Given the description of an element on the screen output the (x, y) to click on. 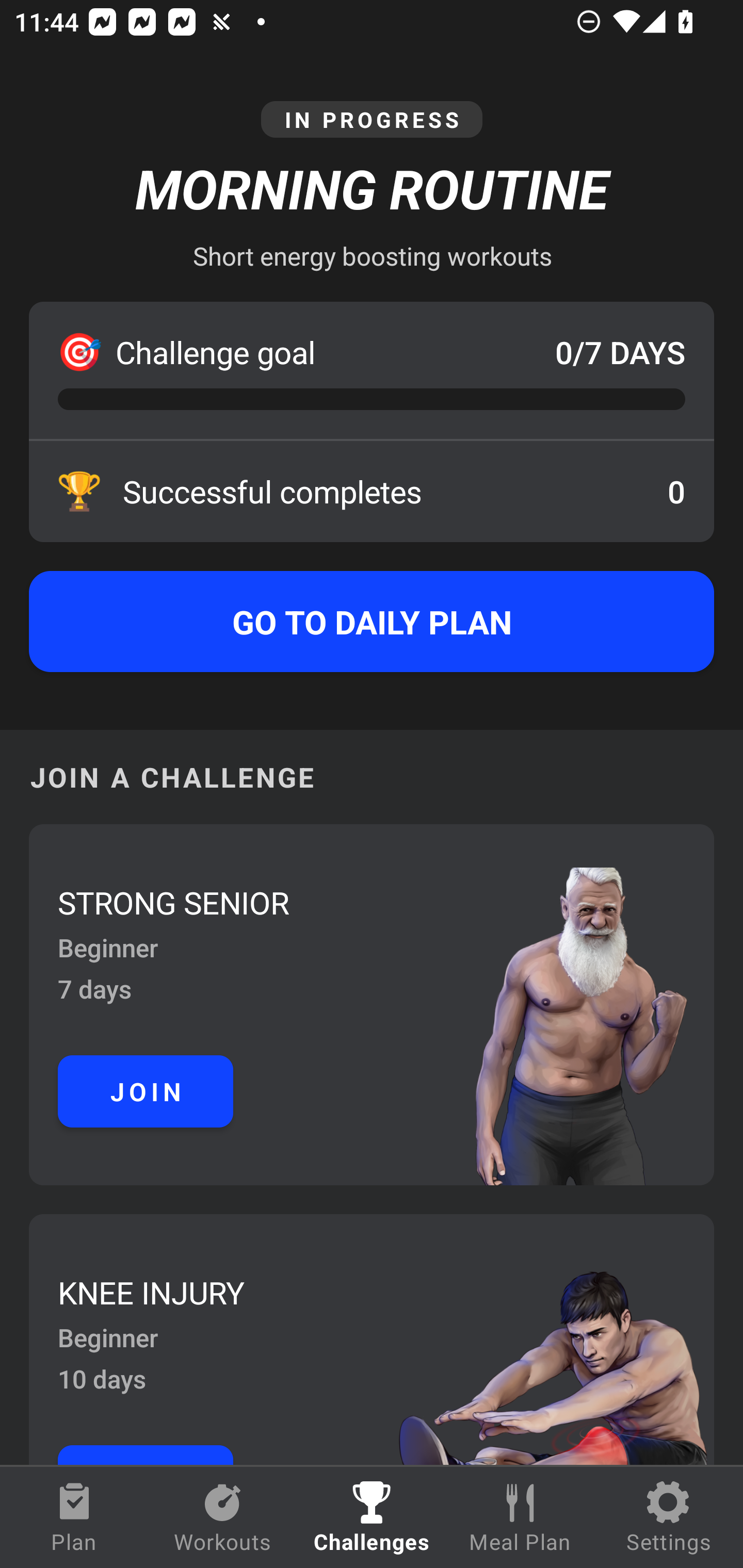
GO TO DAILY PLAN (371, 621)
JOIN (145, 1091)
 Plan  (74, 1517)
 Workouts  (222, 1517)
 Meal Plan  (519, 1517)
 Settings  (668, 1517)
